Given the description of an element on the screen output the (x, y) to click on. 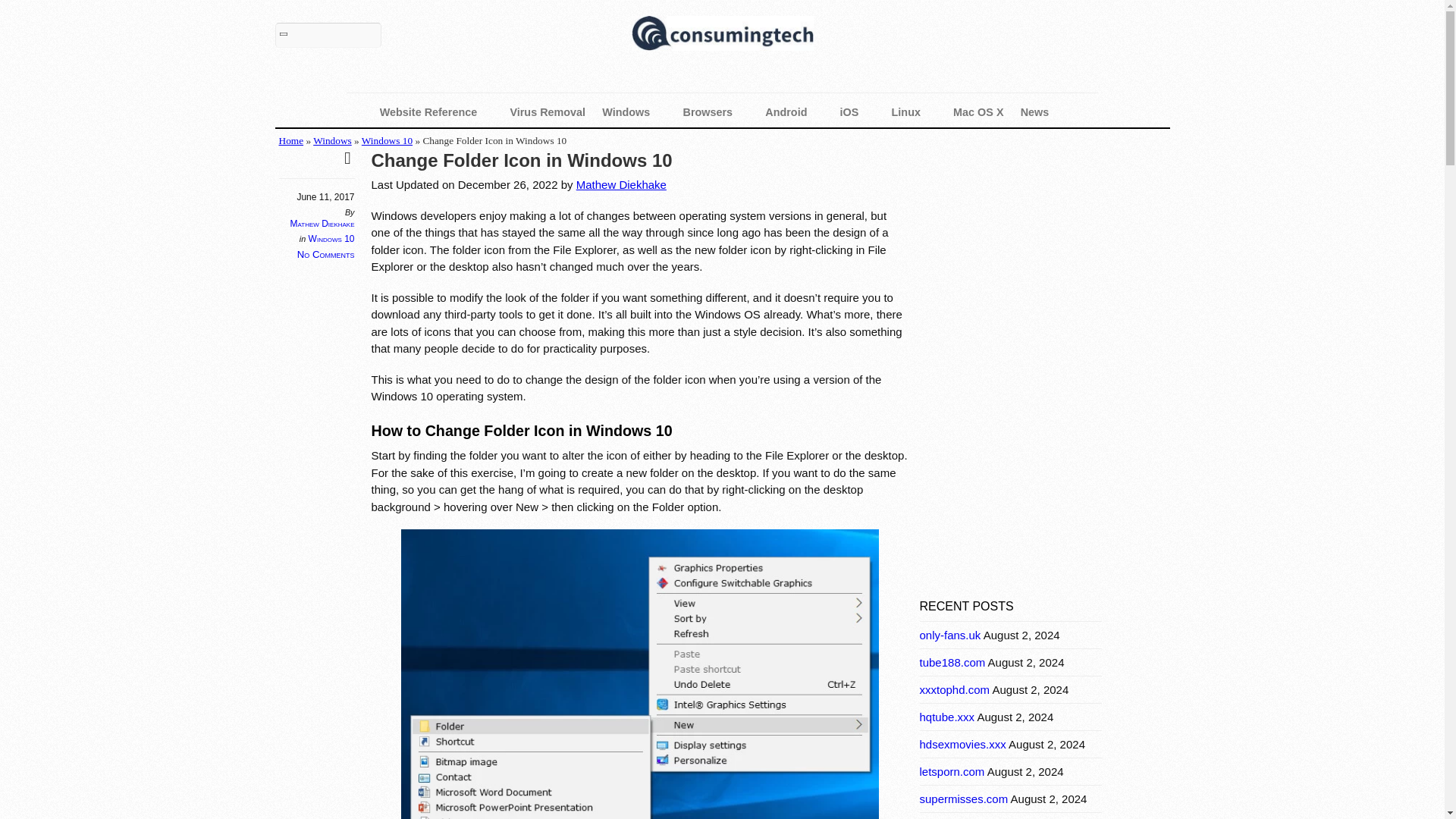
Mac OS X (978, 112)
Search (327, 34)
Windows (633, 112)
Website Reference (436, 112)
Mathew Diekhake (322, 223)
Consuming Tech (721, 36)
Windows (332, 140)
Browsers (715, 112)
Mathew Diekhake (621, 184)
Android (794, 112)
